Given the description of an element on the screen output the (x, y) to click on. 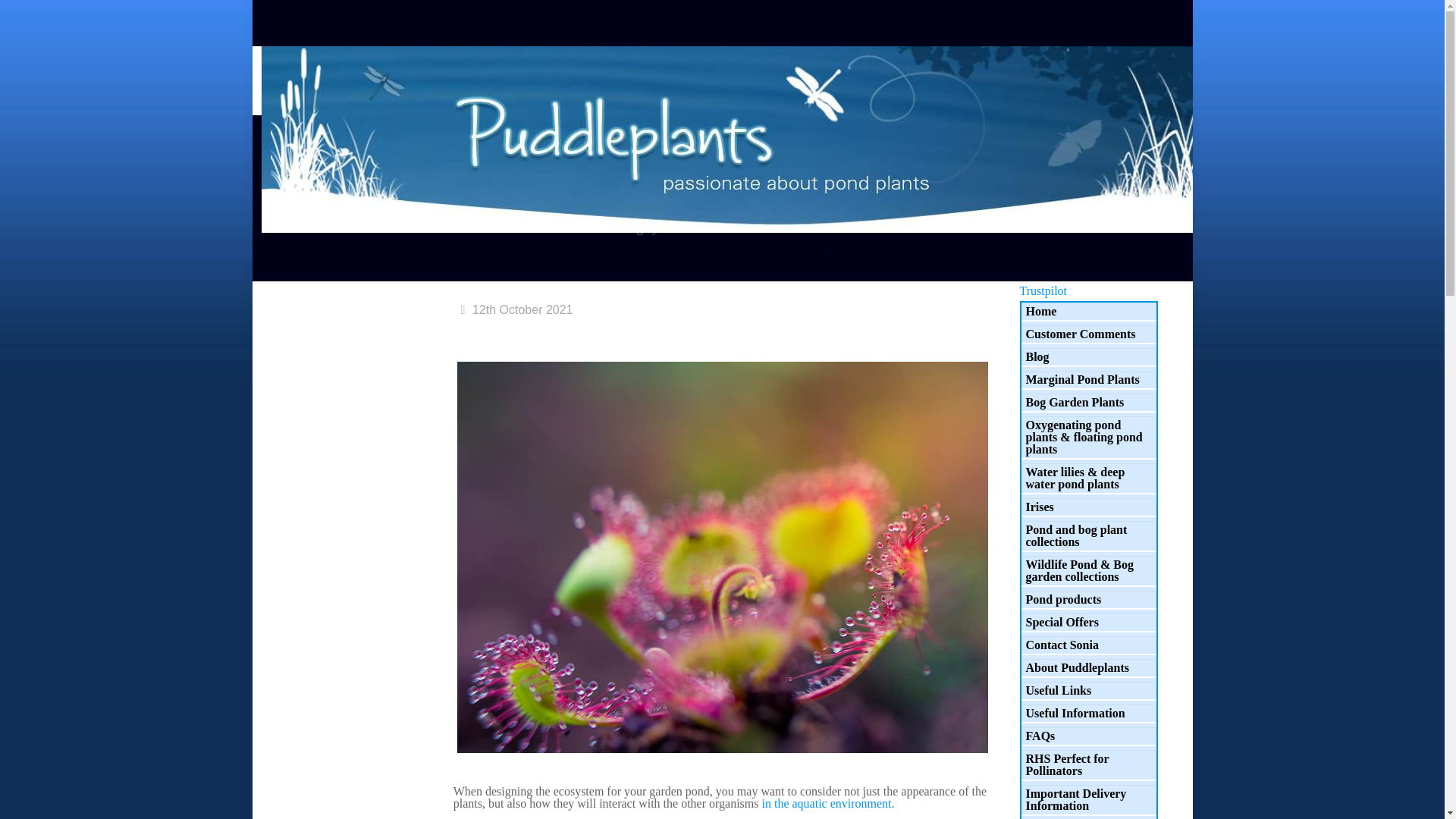
Hungry Plants For Your Pond (865, 251)
in the aquatic environment (826, 802)
Customer News (724, 251)
Home (520, 251)
Puddleplants Blog (611, 251)
